Given the description of an element on the screen output the (x, y) to click on. 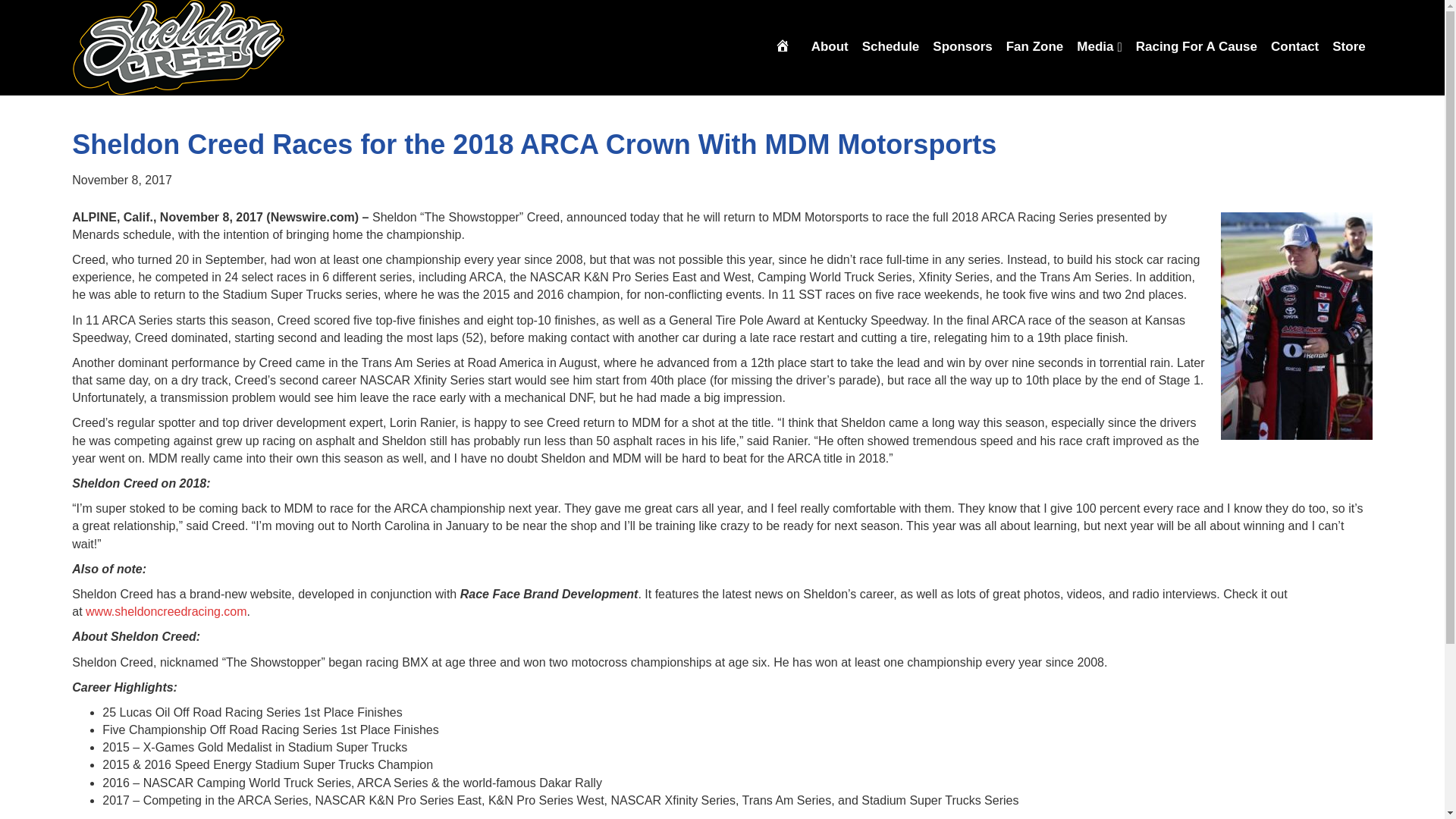
Media (1099, 46)
Store (1347, 46)
Racing For A Cause (1196, 46)
Schedule (891, 46)
Fan Zone (1034, 46)
About (830, 46)
Sponsors (962, 46)
www.sheldoncreedracing.com (166, 611)
Contact (1293, 46)
